Given the description of an element on the screen output the (x, y) to click on. 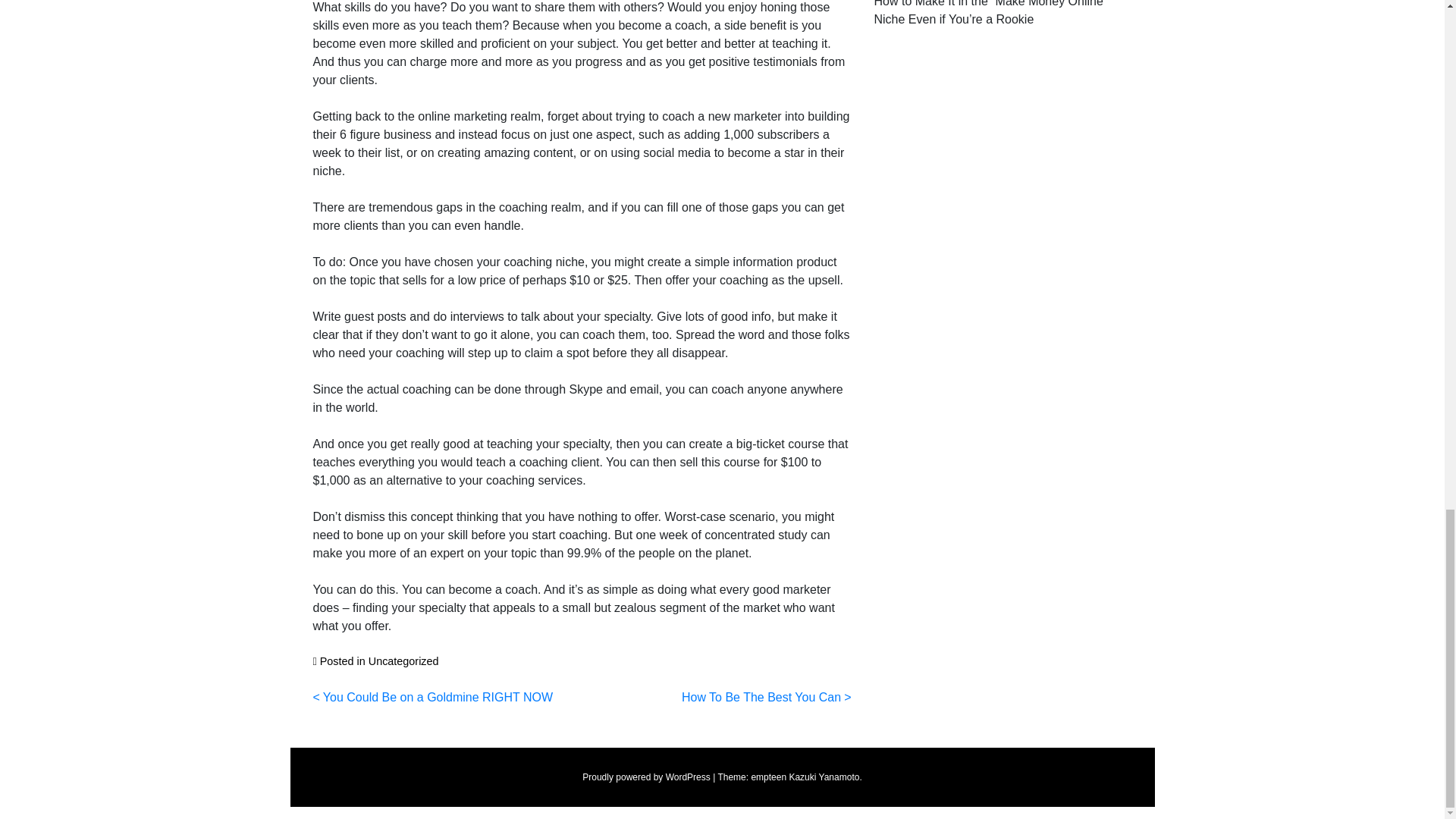
Uncategorized (403, 661)
How To Be The Best You Can (766, 697)
Proudly powered by WordPress (646, 777)
Kazuki Yanamoto (824, 777)
You Could Be on a Goldmine RIGHT NOW (433, 697)
